Given the description of an element on the screen output the (x, y) to click on. 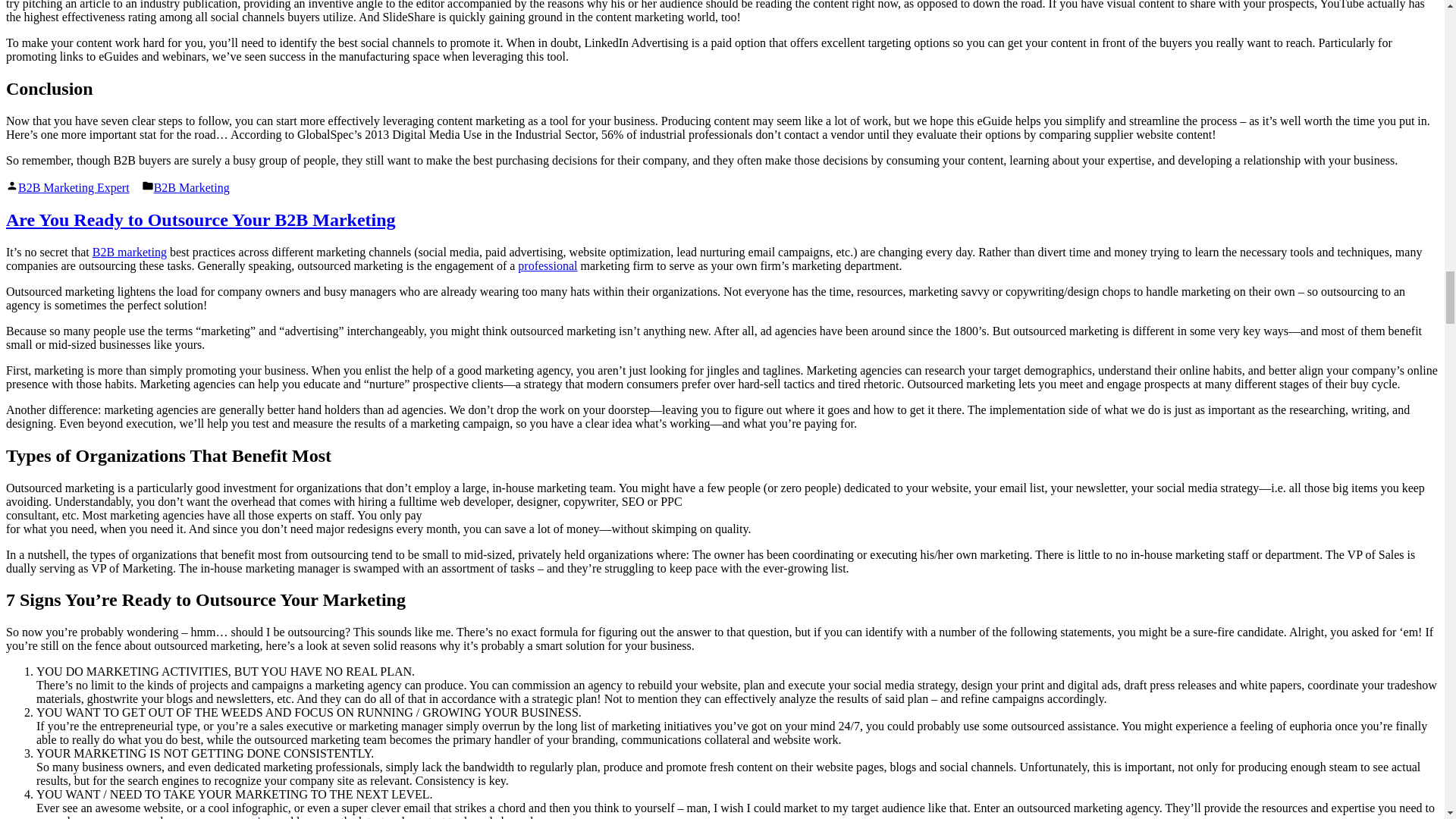
messaging (247, 816)
B2B Marketing (192, 187)
B2B Marketing Expert (73, 187)
B2B marketing (130, 251)
professional (547, 265)
Are You Ready to Outsource Your B2B Marketing (200, 219)
